Given the description of an element on the screen output the (x, y) to click on. 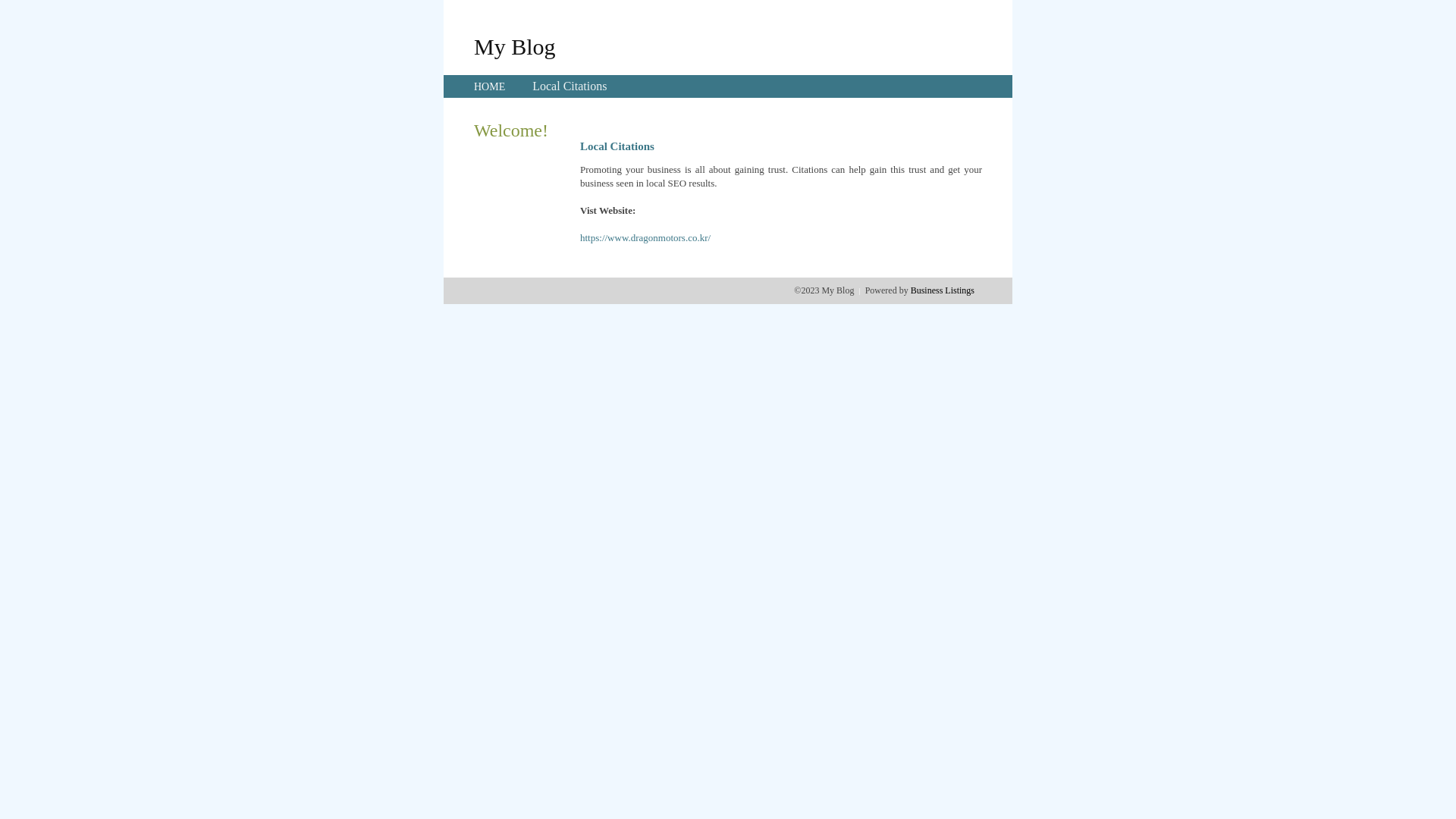
Local Citations Element type: text (569, 85)
https://www.dragonmotors.co.kr/ Element type: text (645, 237)
My Blog Element type: text (514, 46)
HOME Element type: text (489, 86)
Business Listings Element type: text (942, 290)
